Given the description of an element on the screen output the (x, y) to click on. 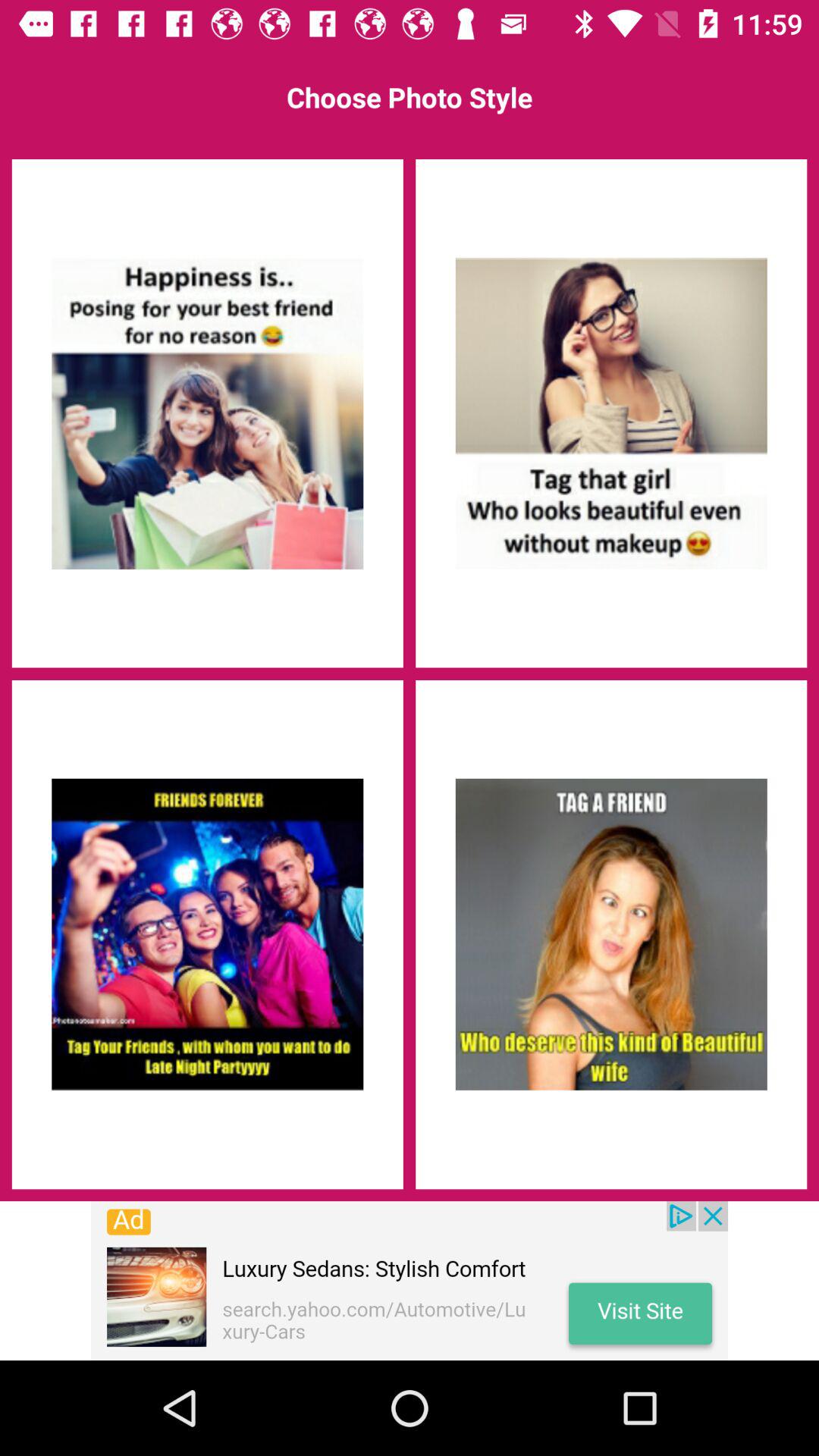
advertisement (611, 934)
